Given the description of an element on the screen output the (x, y) to click on. 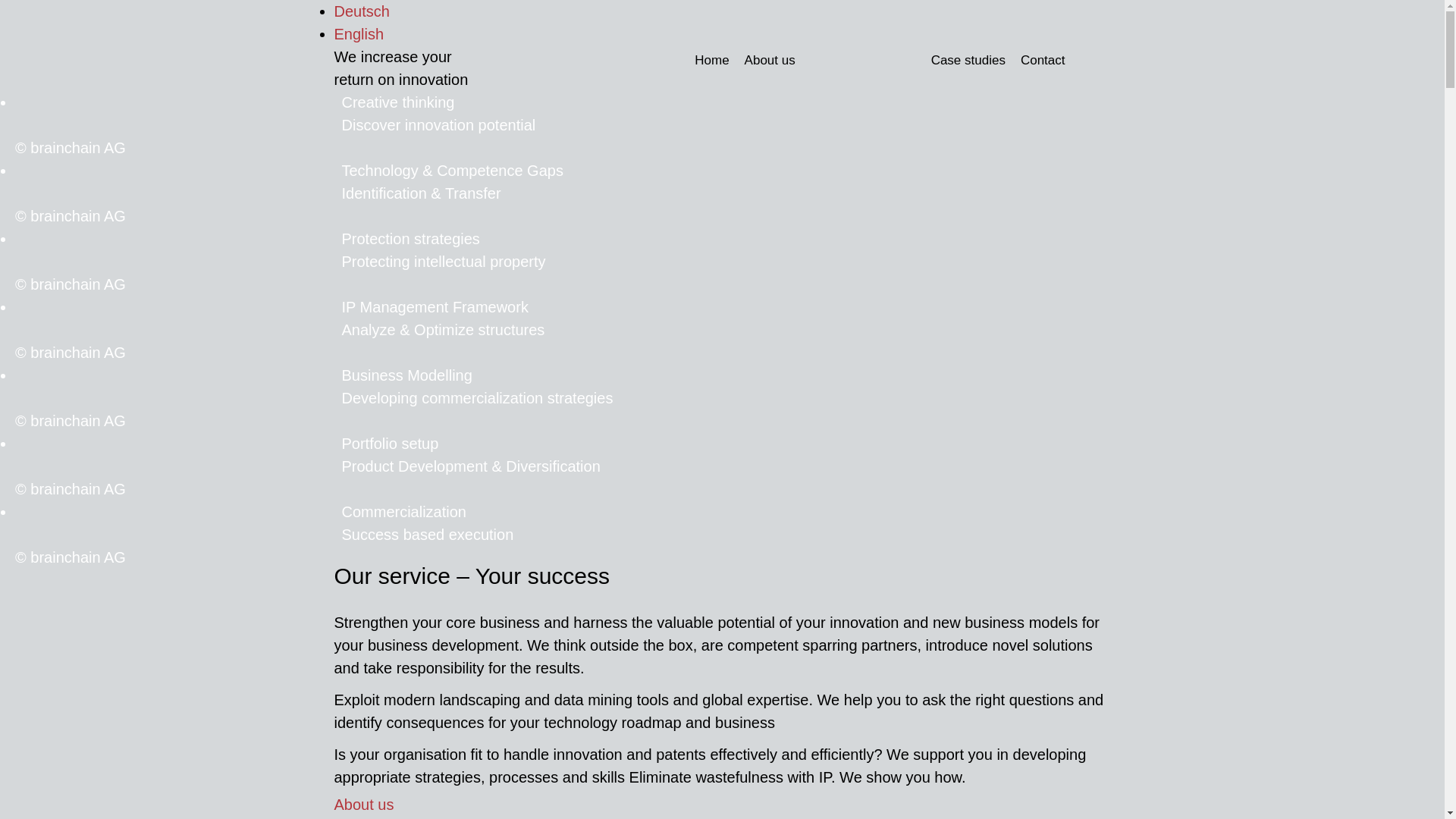
Case studies Element type: text (968, 60)
About us Element type: text (770, 60)
Home Element type: text (711, 60)
Deutsch Element type: text (361, 11)
About us Element type: text (363, 804)
English Element type: text (358, 33)
Consulting service Element type: text (863, 60)
Contact Element type: text (1043, 60)
